Given the description of an element on the screen output the (x, y) to click on. 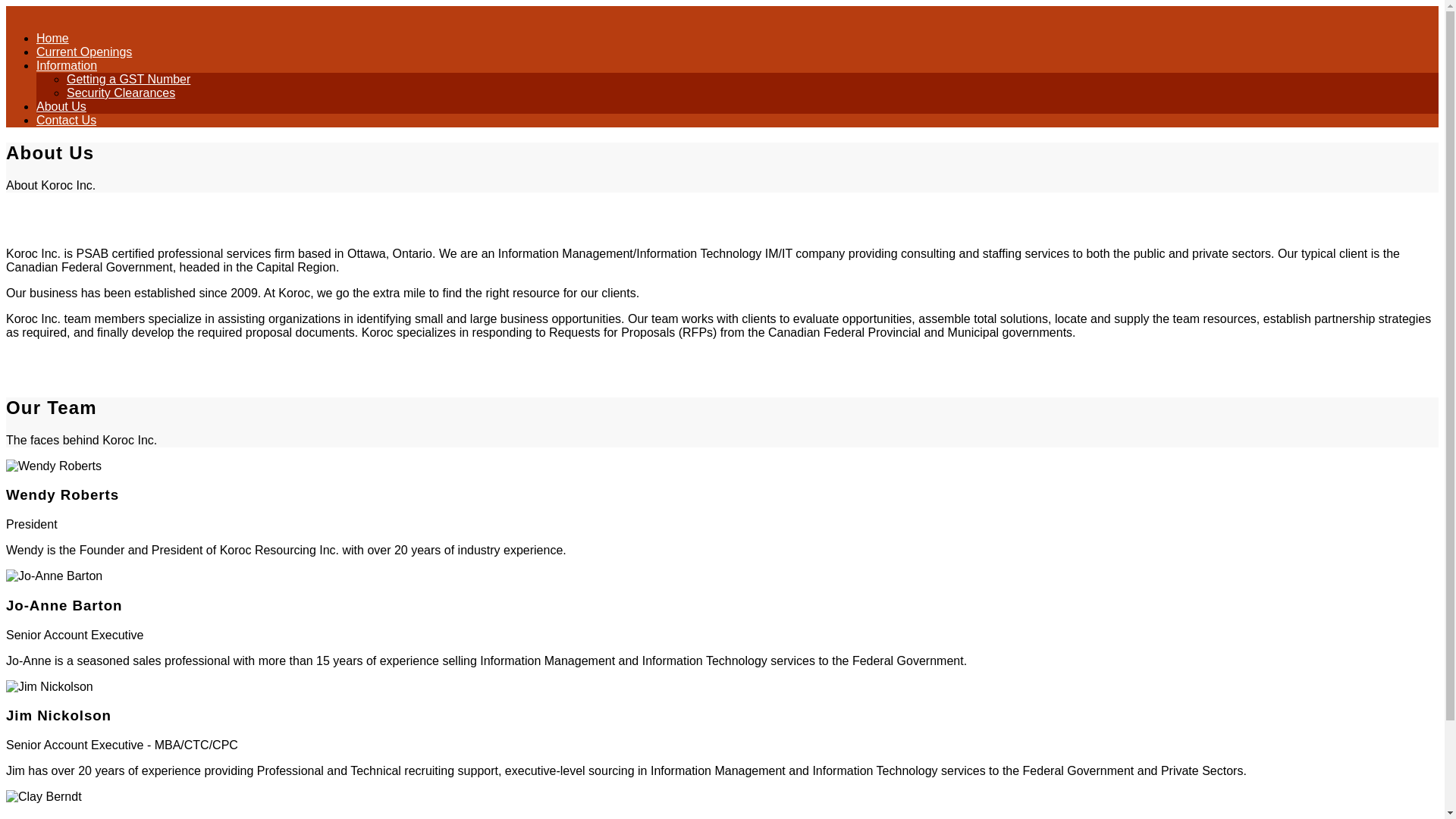
Security Clearances (120, 92)
Home (52, 38)
Current Openings (84, 51)
About Us (60, 106)
Getting a GST Number (128, 78)
Contact Us (66, 119)
Information (66, 65)
